Given the description of an element on the screen output the (x, y) to click on. 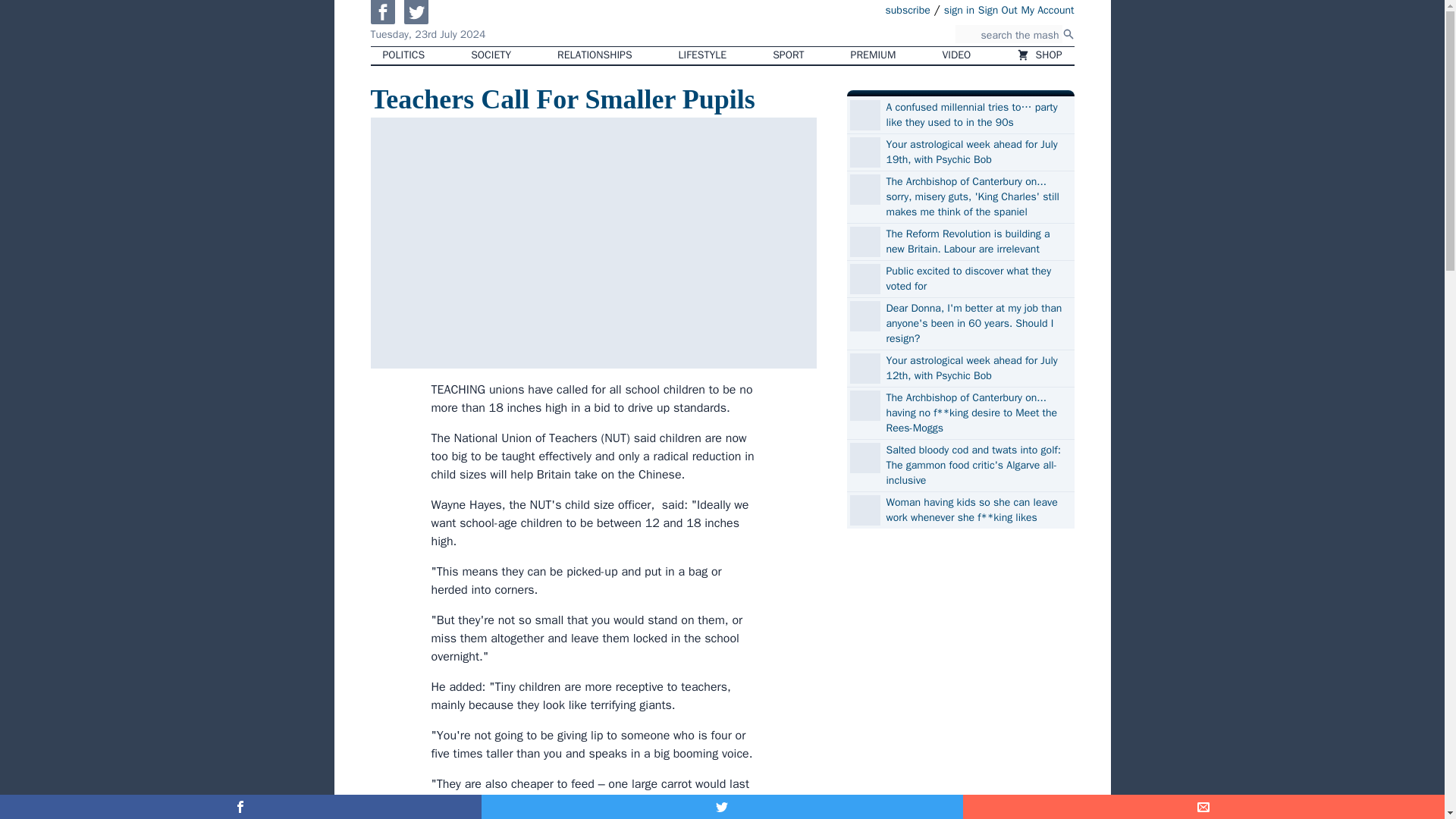
Sign Out (997, 9)
POLITICS (402, 55)
Search (1067, 33)
LIFESTYLE (702, 55)
RELATIONSHIPS (593, 55)
Public excited to discover what they voted for (977, 278)
sign in (958, 9)
SPORT (787, 55)
VIDEO (957, 55)
My Account (1048, 9)
SOCIETY (490, 55)
PREMIUM (873, 55)
subscribe (907, 9)
SHOP (1039, 55)
